Given the description of an element on the screen output the (x, y) to click on. 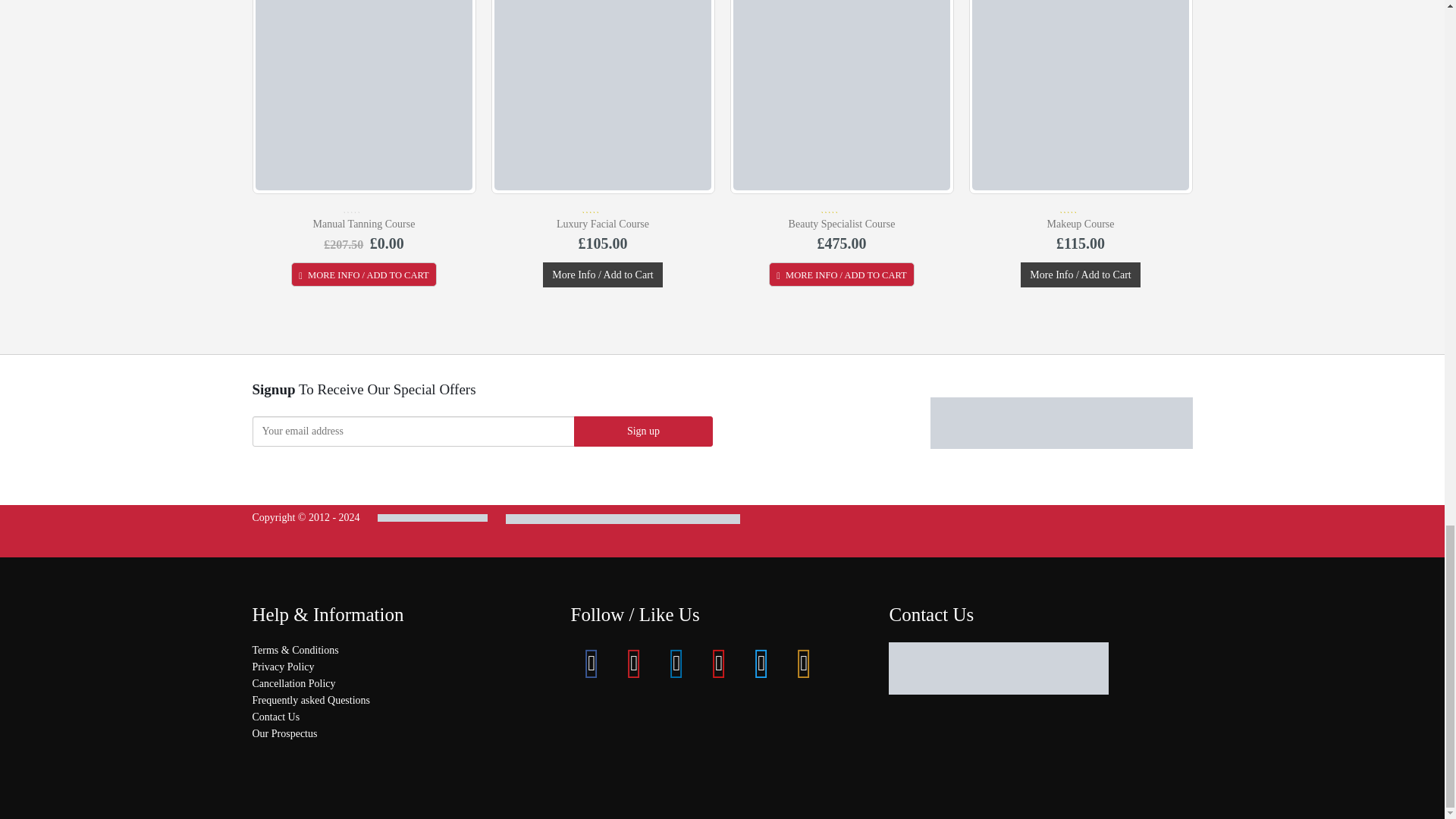
Sign up (643, 431)
